Given the description of an element on the screen output the (x, y) to click on. 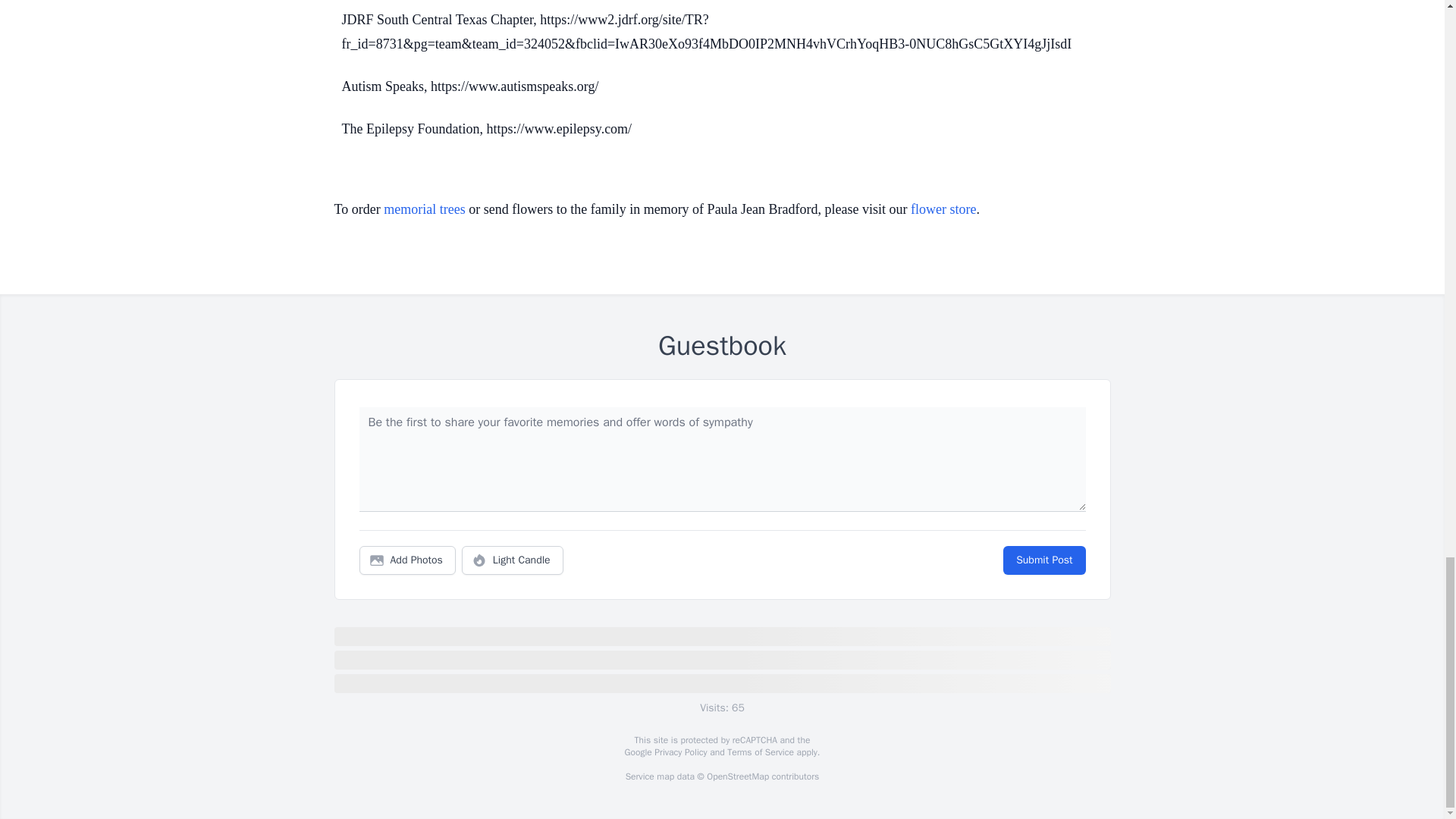
Light Candle (512, 560)
Submit Post (1043, 560)
Privacy Policy (679, 752)
Terms of Service (759, 752)
memorial trees (424, 209)
Add Photos (407, 560)
OpenStreetMap (737, 776)
flower store (943, 209)
